Given the description of an element on the screen output the (x, y) to click on. 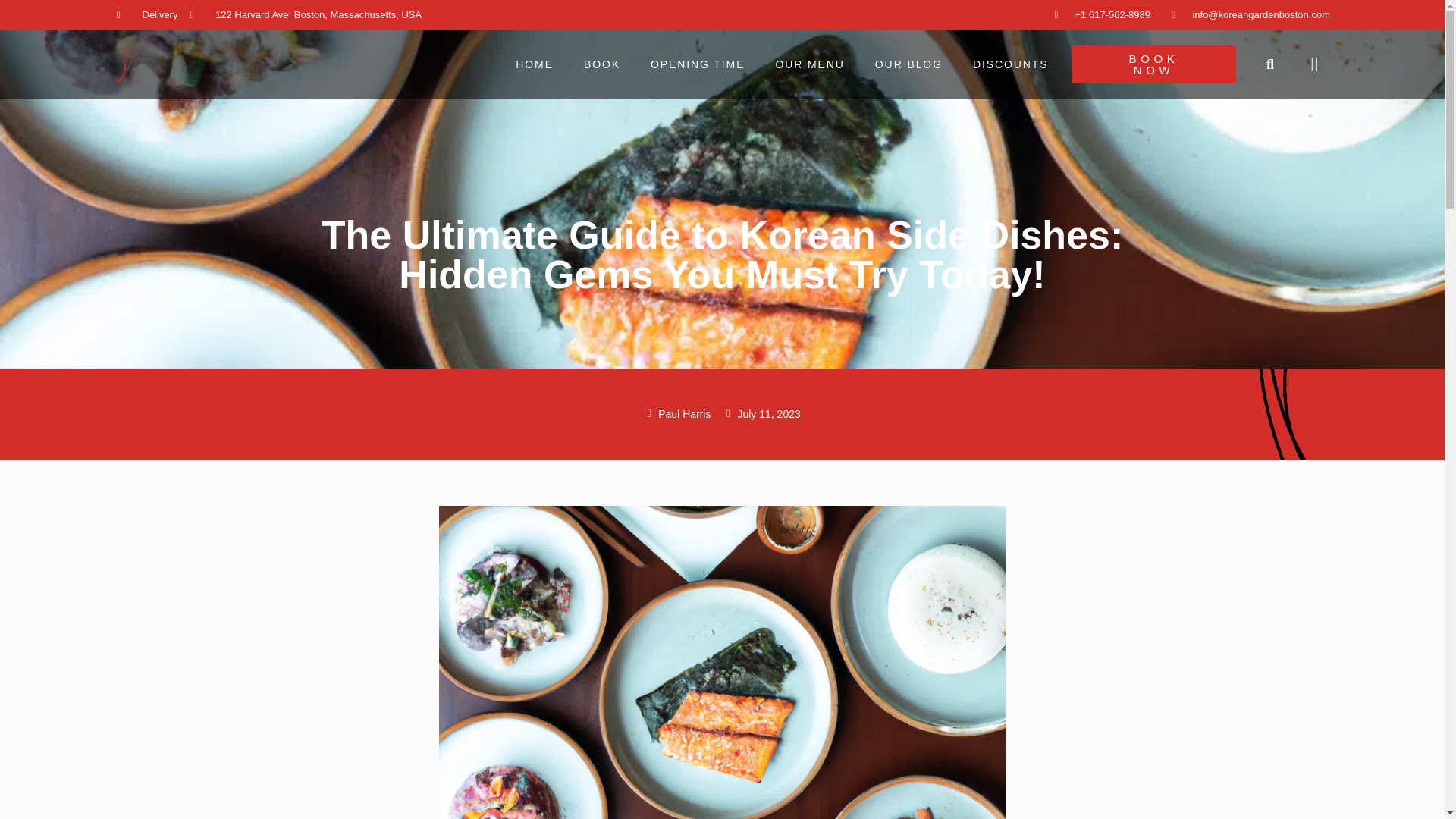
OUR MENU (809, 63)
BOOK NOW (1153, 64)
OUR BLOG (909, 63)
DISCOUNTS (1011, 63)
Delivery (146, 14)
OPENING TIME (697, 63)
BOOK (601, 63)
HOME (534, 63)
